Given the description of an element on the screen output the (x, y) to click on. 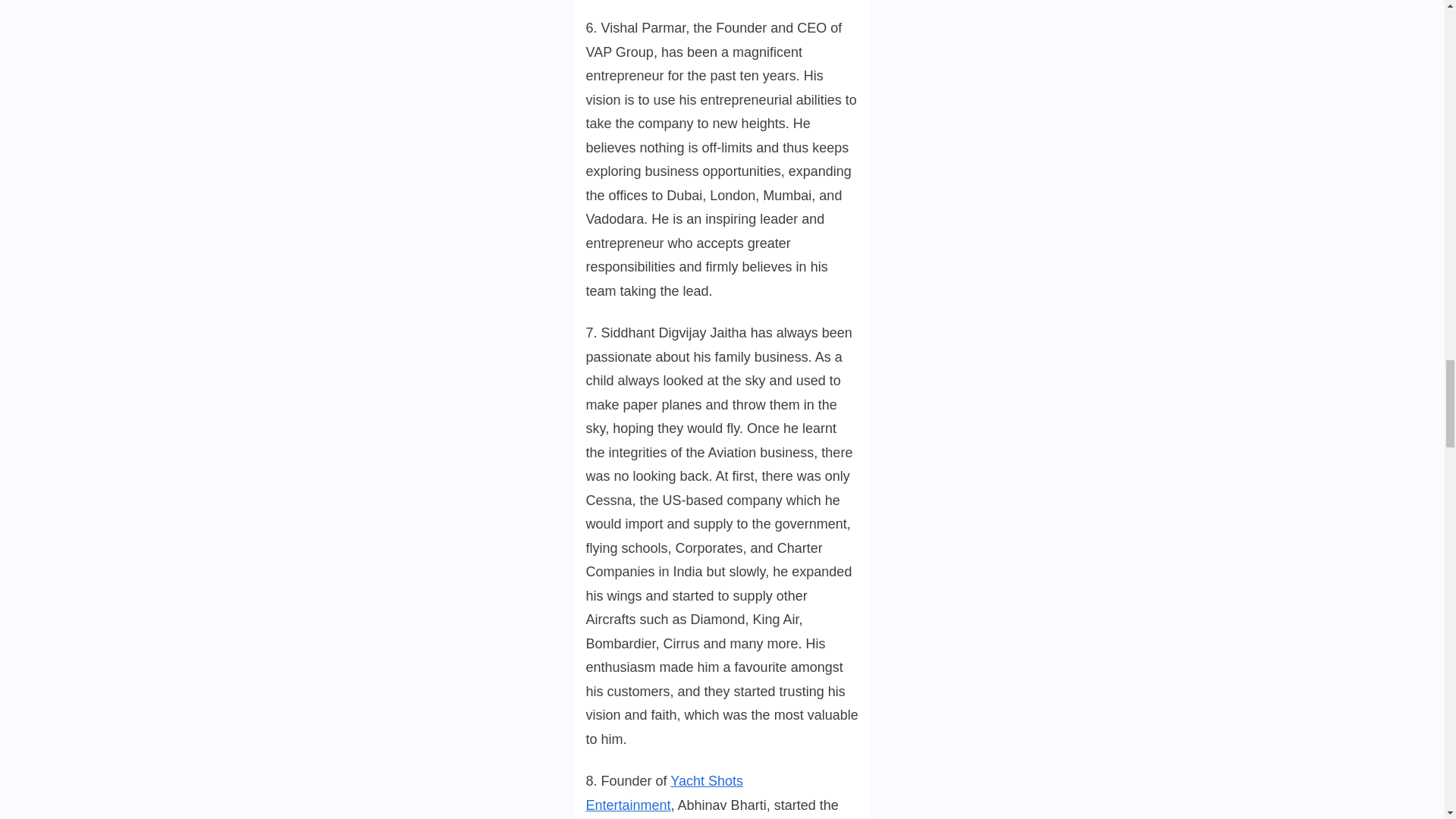
Yacht Shots Entertainment (663, 793)
